Given the description of an element on the screen output the (x, y) to click on. 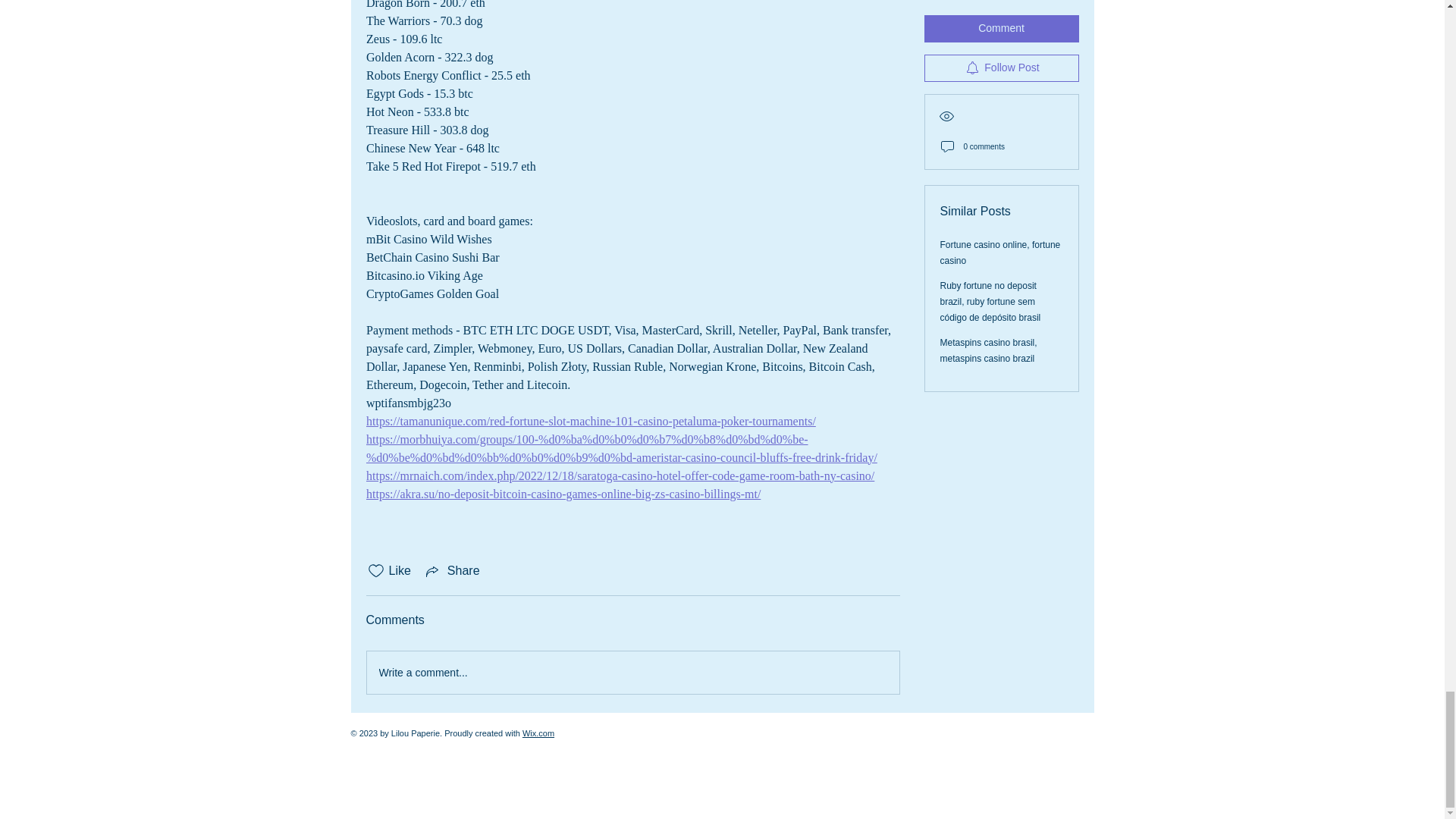
Wix.com (538, 732)
Write a comment... (632, 672)
Share (451, 570)
